Given the description of an element on the screen output the (x, y) to click on. 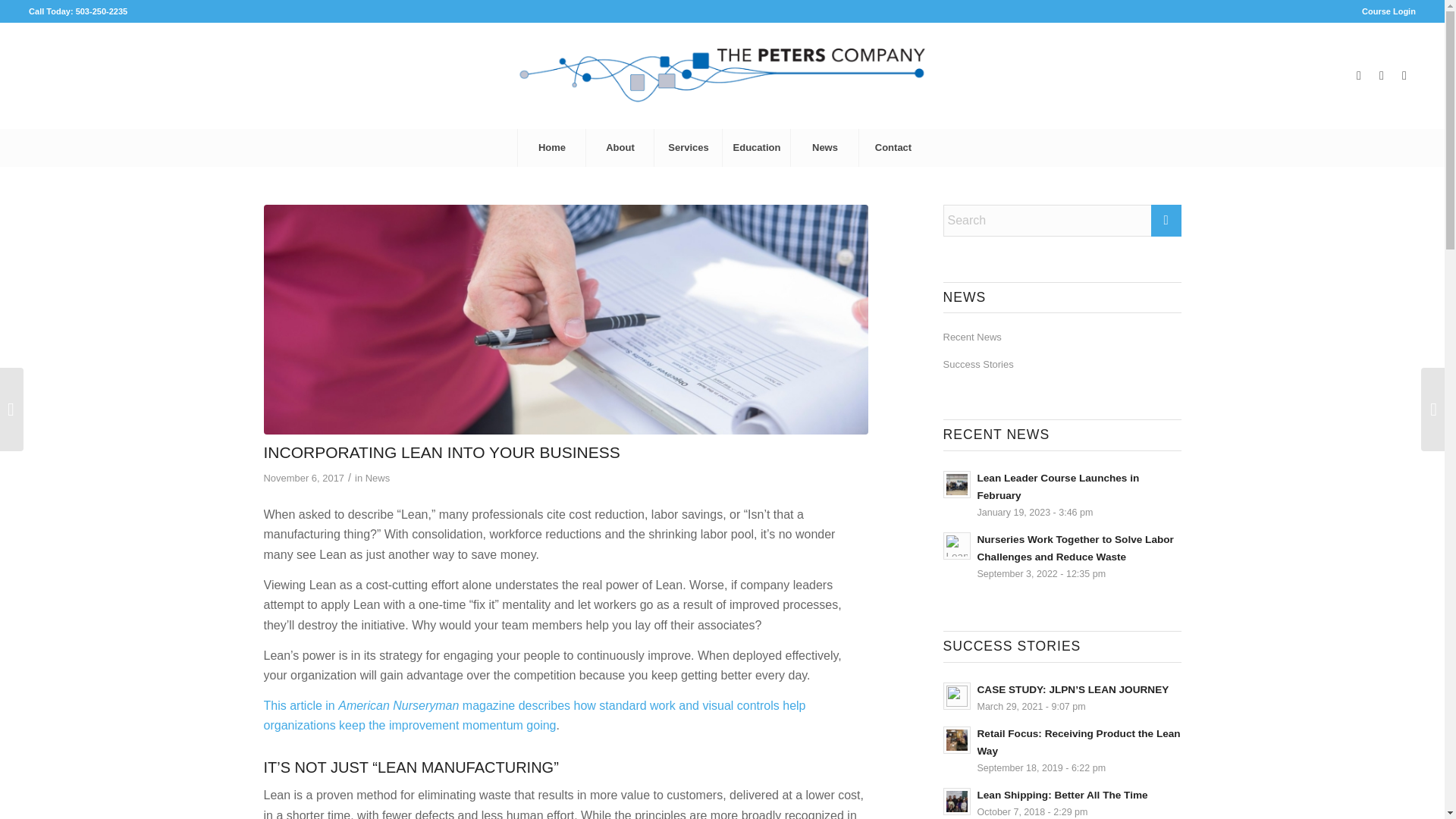
Services (687, 147)
LinkedIn (1381, 75)
Course Login (1388, 11)
About (619, 147)
Education (756, 147)
News (824, 147)
Facebook (1359, 75)
Mail (1404, 75)
503-250-2235 (101, 10)
Contact (892, 147)
News (377, 478)
Home (550, 147)
